Given the description of an element on the screen output the (x, y) to click on. 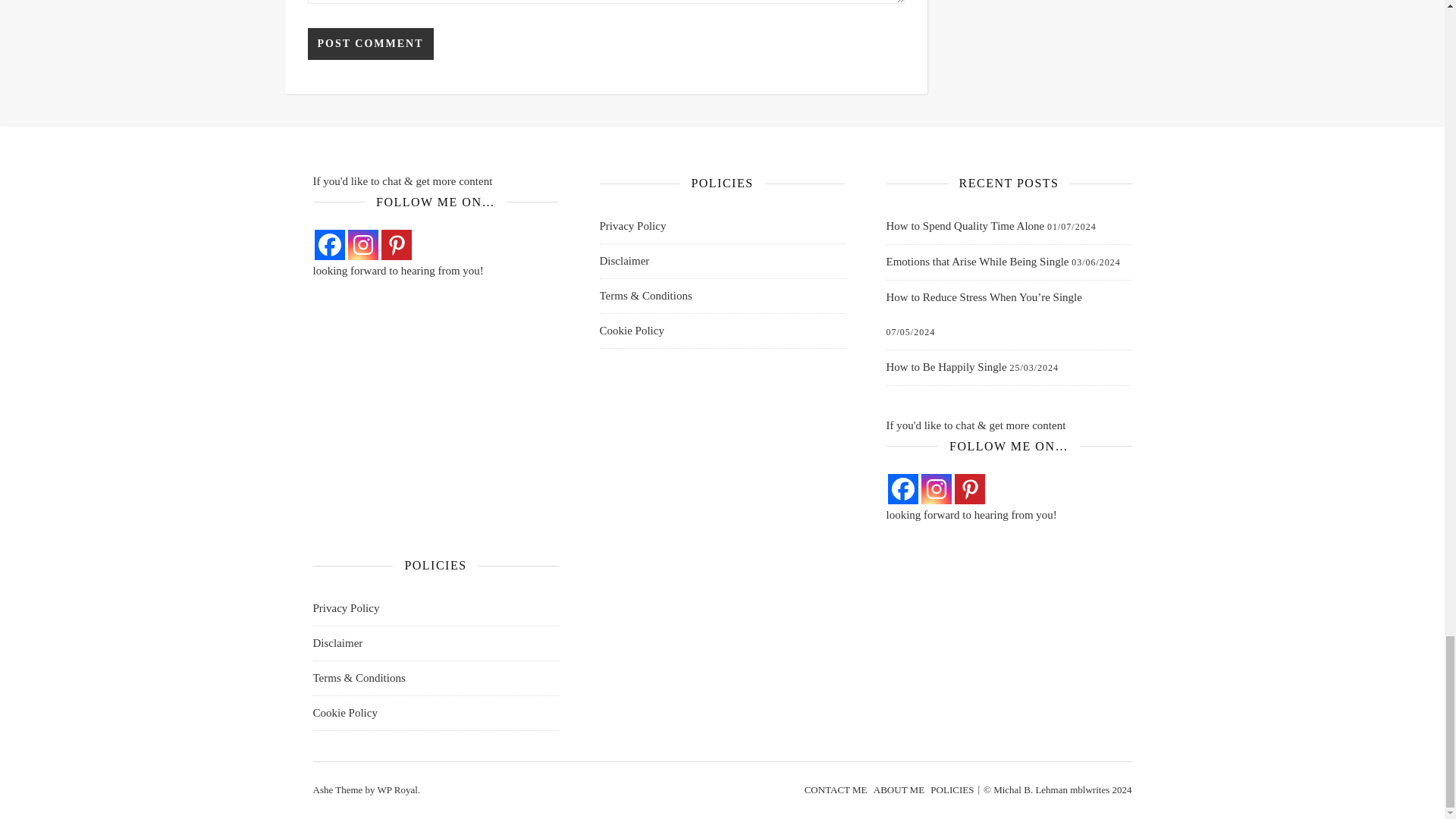
Post Comment (370, 43)
